Given the description of an element on the screen output the (x, y) to click on. 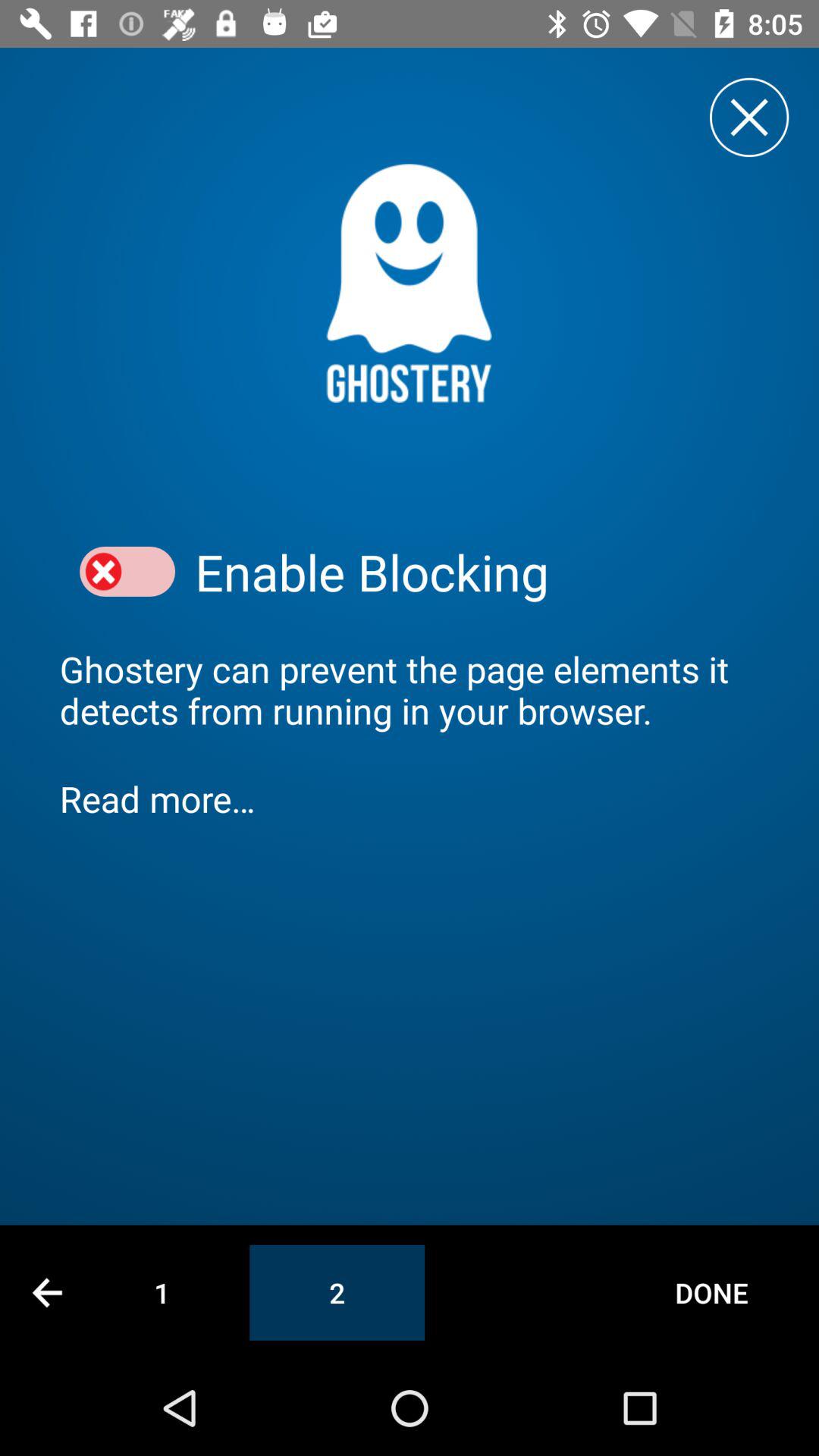
open icon to the right of 1 item (336, 1292)
